Given the description of an element on the screen output the (x, y) to click on. 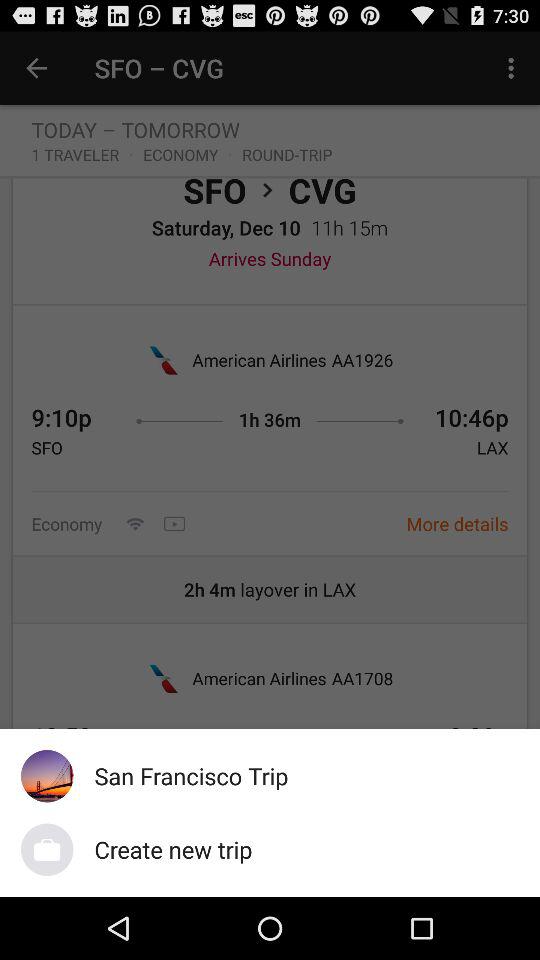
tap the icon at the center (270, 463)
